Given the description of an element on the screen output the (x, y) to click on. 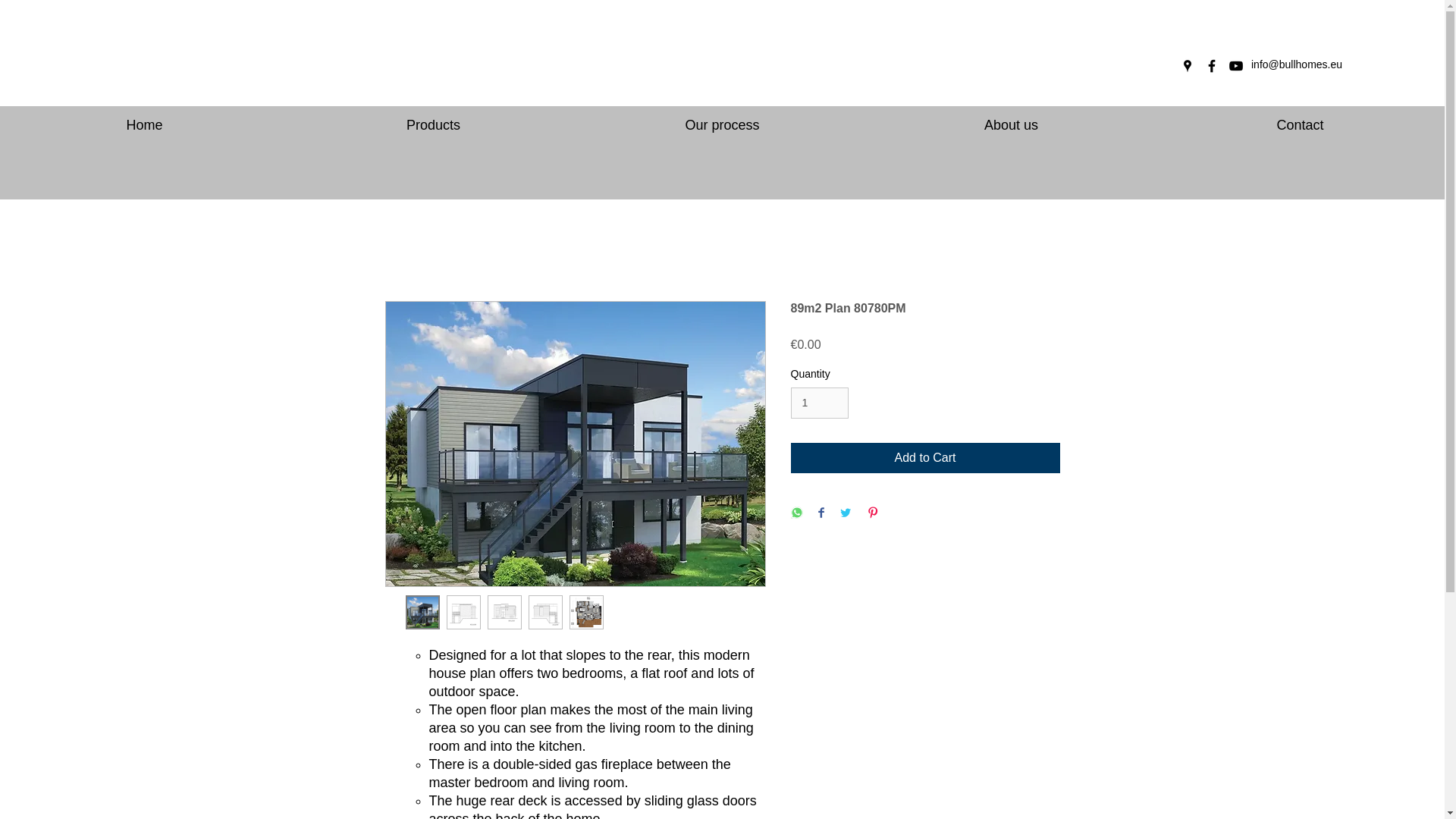
Products (433, 118)
1 (818, 402)
About us (1011, 118)
Home (144, 118)
Our process (722, 118)
